Given the description of an element on the screen output the (x, y) to click on. 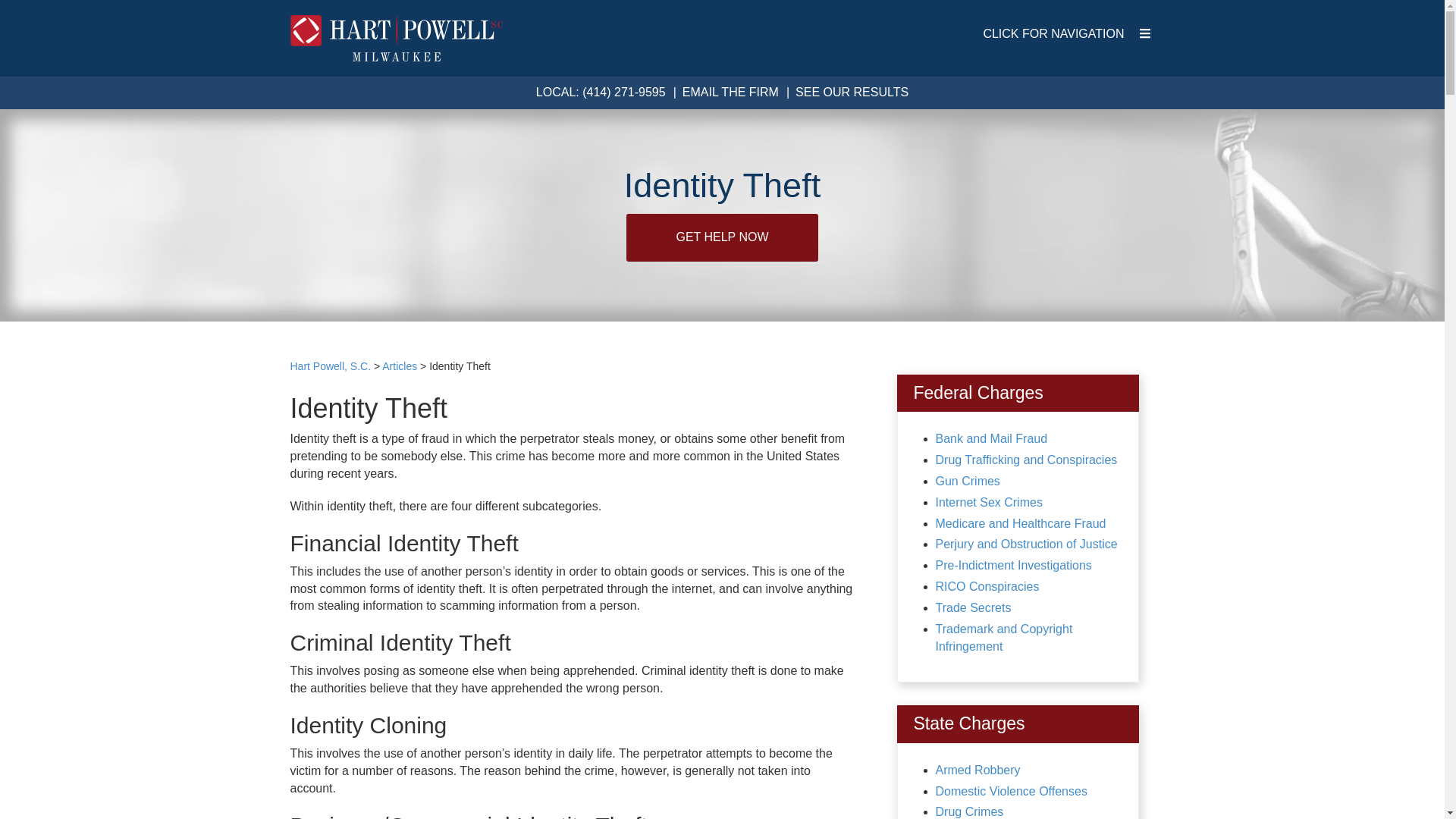
Hart Powell, S.C. (330, 366)
Go to Articles. (398, 366)
Medicare and Healthcare Fraud (1021, 522)
Go to Hart Powell, S.C.. (330, 366)
EMAIL THE FIRM (730, 91)
Trade Secrets (973, 607)
RICO Conspiracies (987, 585)
Bank and Mail Fraud (992, 438)
Drug Crimes (970, 811)
Pre-Indictment Investigations (1014, 564)
Perjury and Obstruction of Justice (1027, 543)
SEE OUR RESULTS (851, 91)
GET HELP NOW (721, 237)
CLICK FOR NAVIGATION (1066, 34)
Gun Crimes (968, 481)
